Given the description of an element on the screen output the (x, y) to click on. 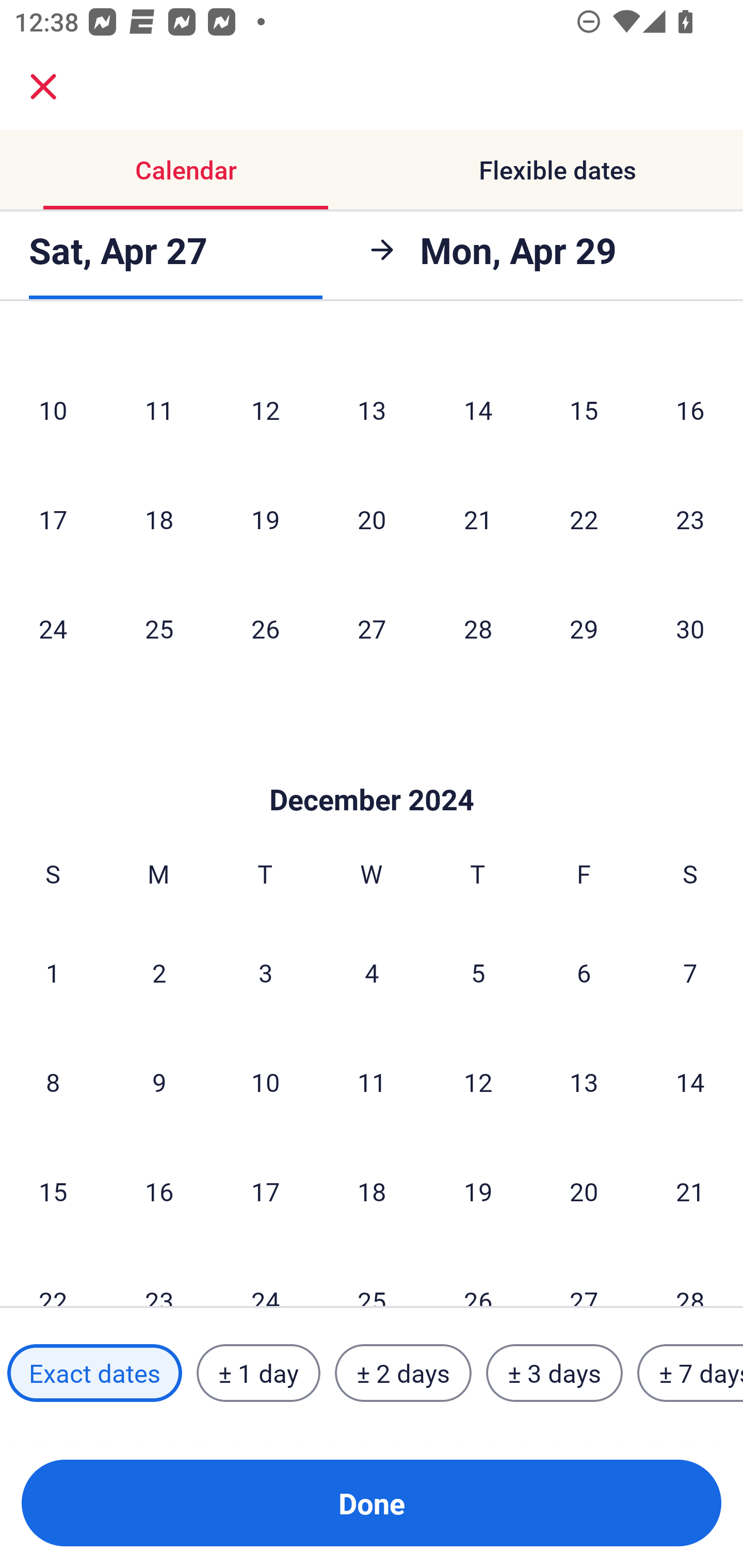
close. (43, 86)
Flexible dates (557, 170)
10 Sunday, November 10, 2024 (53, 409)
11 Monday, November 11, 2024 (159, 409)
12 Tuesday, November 12, 2024 (265, 409)
13 Wednesday, November 13, 2024 (371, 409)
14 Thursday, November 14, 2024 (477, 409)
15 Friday, November 15, 2024 (584, 409)
16 Saturday, November 16, 2024 (690, 409)
17 Sunday, November 17, 2024 (53, 518)
18 Monday, November 18, 2024 (159, 518)
19 Tuesday, November 19, 2024 (265, 518)
20 Wednesday, November 20, 2024 (371, 518)
21 Thursday, November 21, 2024 (477, 518)
22 Friday, November 22, 2024 (584, 518)
23 Saturday, November 23, 2024 (690, 518)
24 Sunday, November 24, 2024 (53, 628)
25 Monday, November 25, 2024 (159, 628)
26 Tuesday, November 26, 2024 (265, 628)
27 Wednesday, November 27, 2024 (371, 628)
28 Thursday, November 28, 2024 (477, 628)
29 Friday, November 29, 2024 (584, 628)
30 Saturday, November 30, 2024 (690, 628)
Skip to Done (371, 768)
1 Sunday, December 1, 2024 (53, 972)
2 Monday, December 2, 2024 (159, 972)
3 Tuesday, December 3, 2024 (265, 972)
4 Wednesday, December 4, 2024 (371, 972)
5 Thursday, December 5, 2024 (477, 972)
6 Friday, December 6, 2024 (584, 972)
7 Saturday, December 7, 2024 (690, 972)
8 Sunday, December 8, 2024 (53, 1081)
9 Monday, December 9, 2024 (159, 1081)
10 Tuesday, December 10, 2024 (265, 1081)
11 Wednesday, December 11, 2024 (371, 1081)
12 Thursday, December 12, 2024 (477, 1081)
13 Friday, December 13, 2024 (584, 1081)
14 Saturday, December 14, 2024 (690, 1081)
15 Sunday, December 15, 2024 (53, 1190)
16 Monday, December 16, 2024 (159, 1190)
17 Tuesday, December 17, 2024 (265, 1190)
18 Wednesday, December 18, 2024 (371, 1190)
19 Thursday, December 19, 2024 (477, 1190)
20 Friday, December 20, 2024 (584, 1190)
21 Saturday, December 21, 2024 (690, 1190)
Exact dates (94, 1372)
± 1 day (258, 1372)
± 2 days (403, 1372)
± 3 days (553, 1372)
± 7 days (690, 1372)
